Given the description of an element on the screen output the (x, y) to click on. 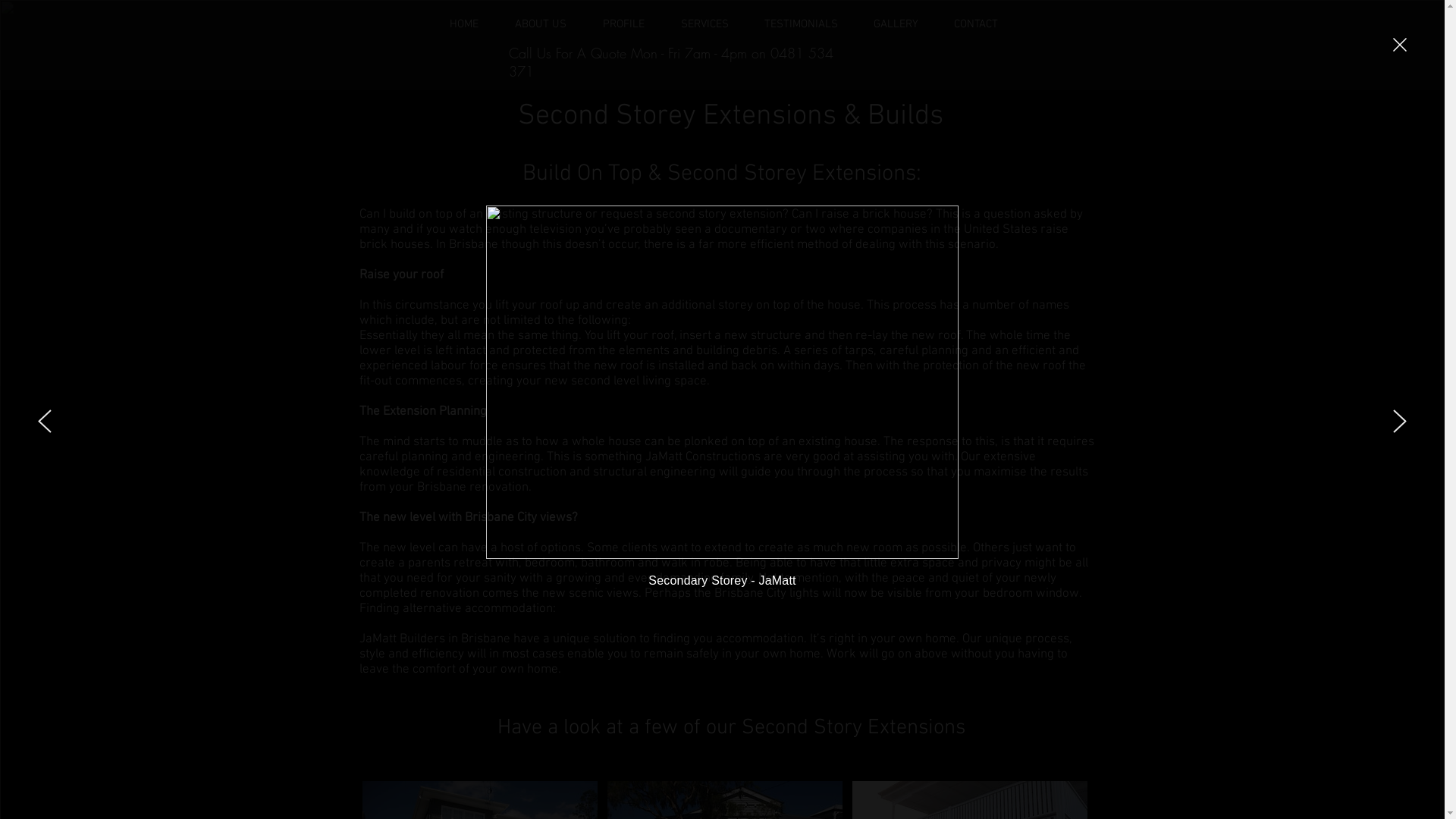
GALLERY Element type: text (895, 24)
TESTIMONIALS Element type: text (800, 24)
PROFILE Element type: text (622, 24)
CONTACT Element type: text (975, 24)
ABOUT US Element type: text (539, 24)
HOME Element type: text (462, 24)
SERVICES Element type: text (704, 24)
